Given the description of an element on the screen output the (x, y) to click on. 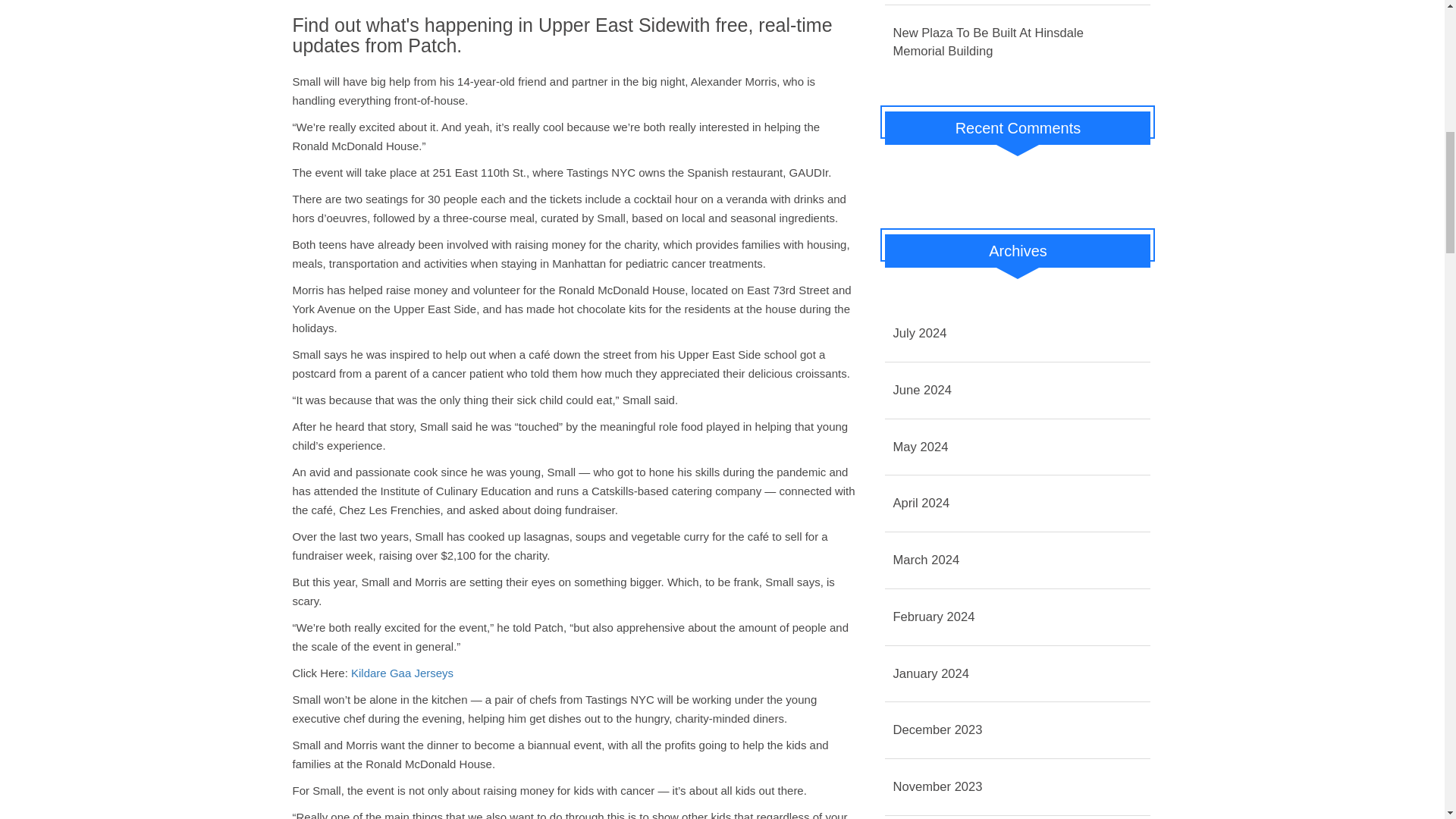
January 2024 (1017, 674)
April 2024 (1017, 503)
November 2023 (1017, 787)
New Plaza To Be Built At Hinsdale Memorial Building (1017, 41)
Kildare Gaa Jerseys (401, 672)
February 2024 (1017, 617)
June 2024 (1017, 390)
December 2023 (1017, 730)
July 2024 (1017, 333)
kildare gaa jerseys (401, 672)
May 2024 (1017, 447)
March 2024 (1017, 560)
